Given the description of an element on the screen output the (x, y) to click on. 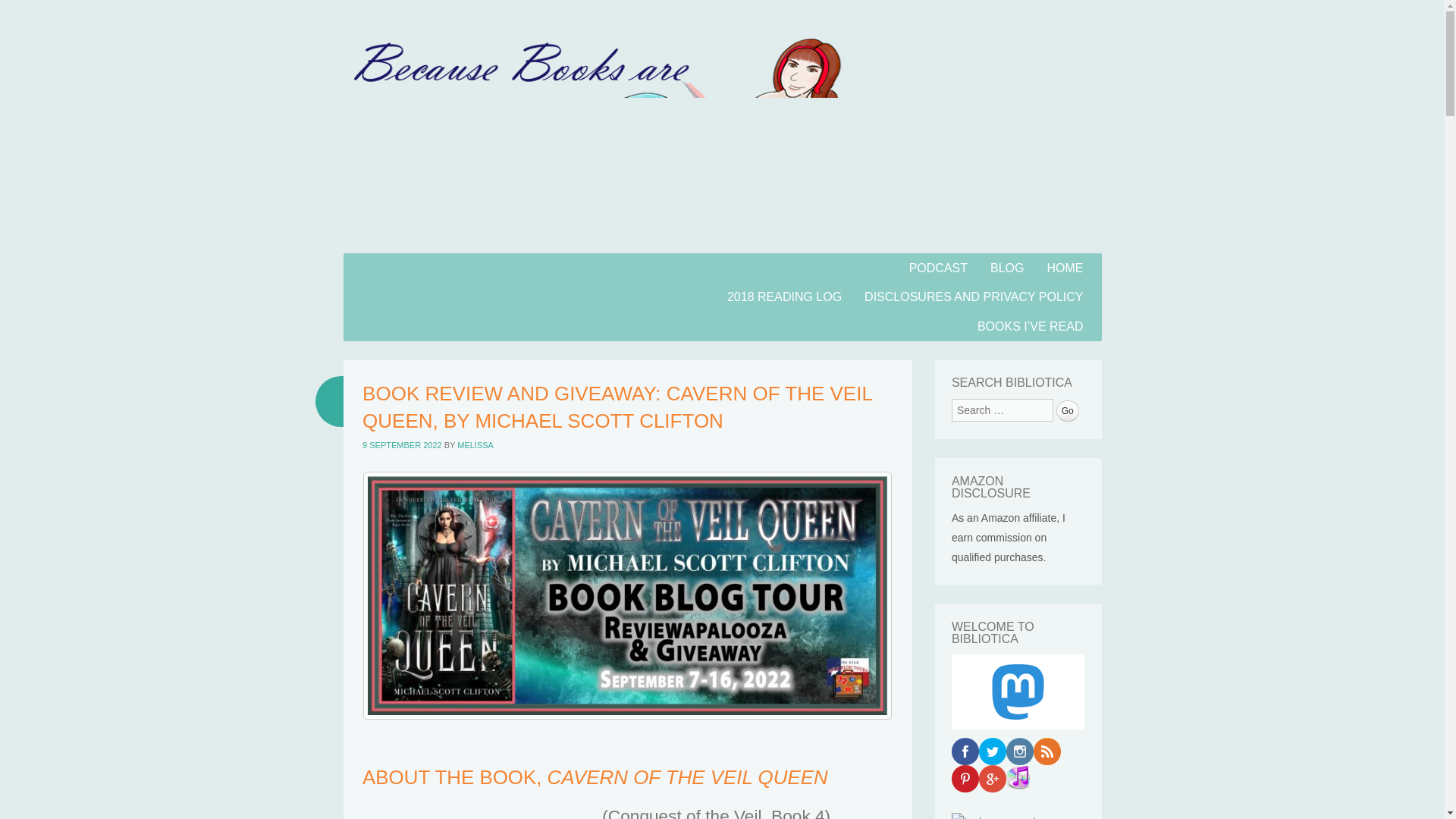
9 SEPTEMBER 2022 (402, 444)
2018 READING LOG (784, 297)
Bibliotica (430, 295)
Bibliotica (430, 295)
07:00 (402, 444)
BLOG (1006, 267)
Skip to content (382, 262)
DISCLOSURES AND PRIVACY POLICY (973, 297)
MELISSA (475, 444)
Go (1067, 410)
